Given the description of an element on the screen output the (x, y) to click on. 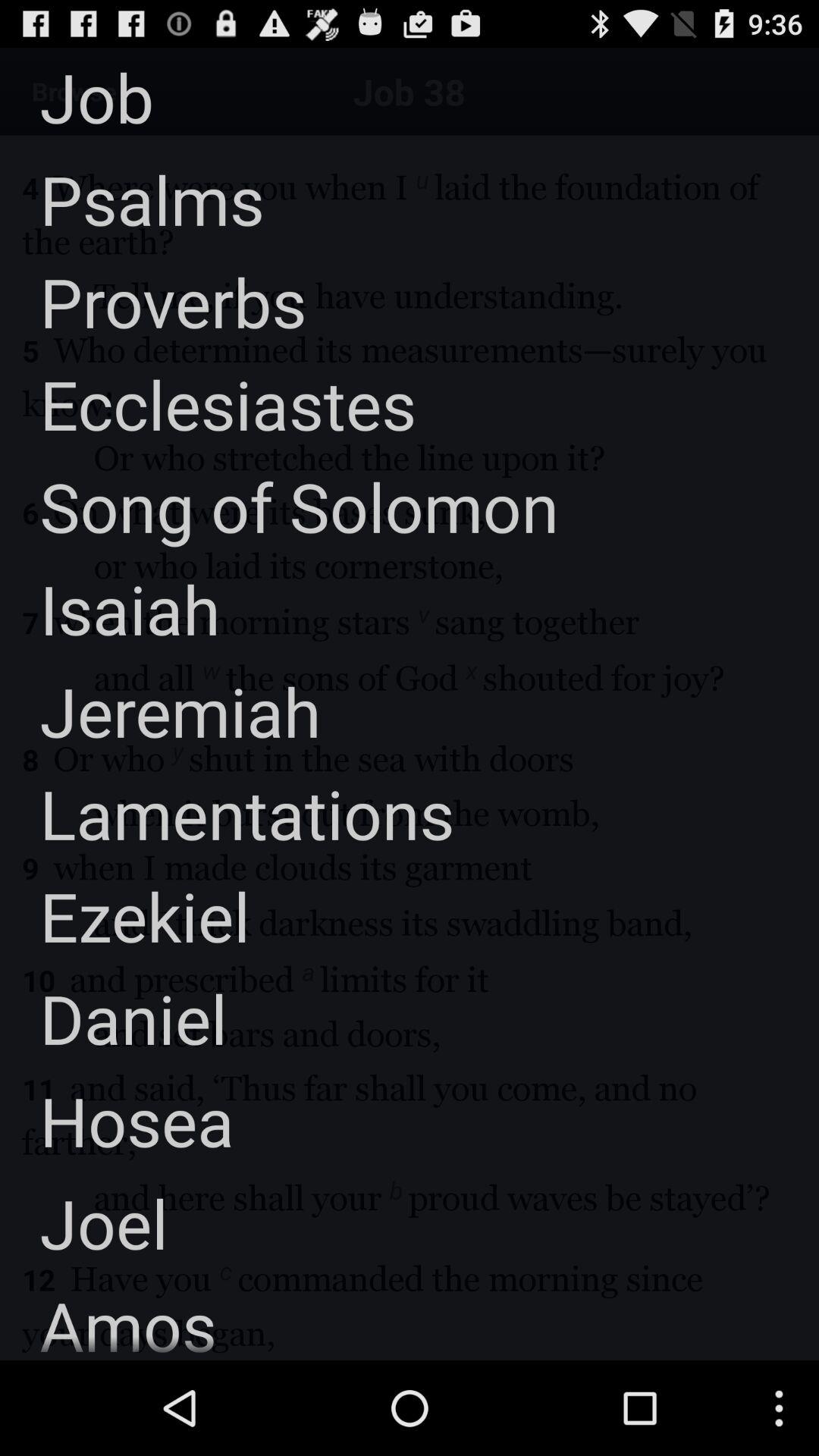
select app above isaiah item (279, 506)
